Given the description of an element on the screen output the (x, y) to click on. 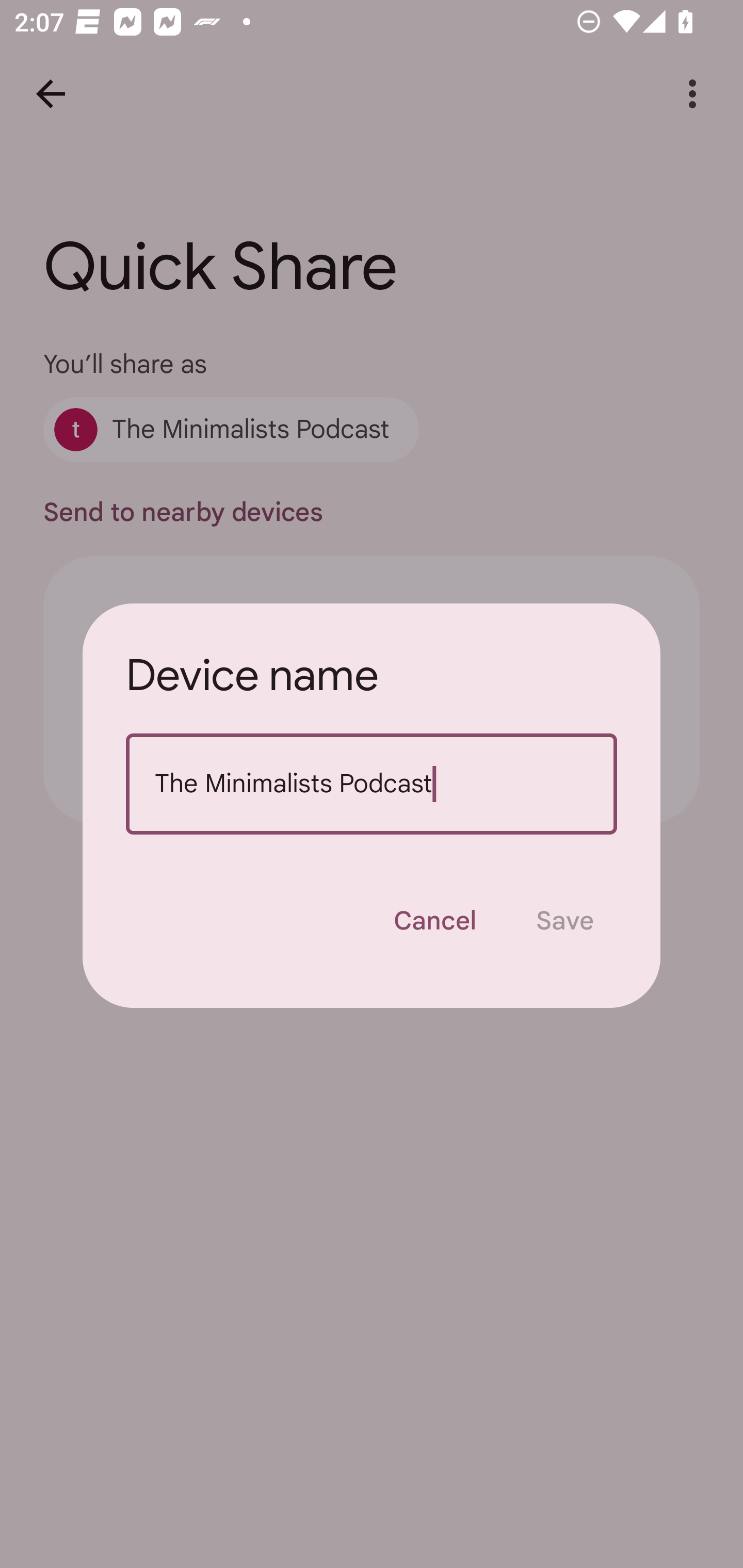
The Minimalists Podcast Device name (371, 783)
Cancel (434, 921)
Save (564, 921)
